Given the description of an element on the screen output the (x, y) to click on. 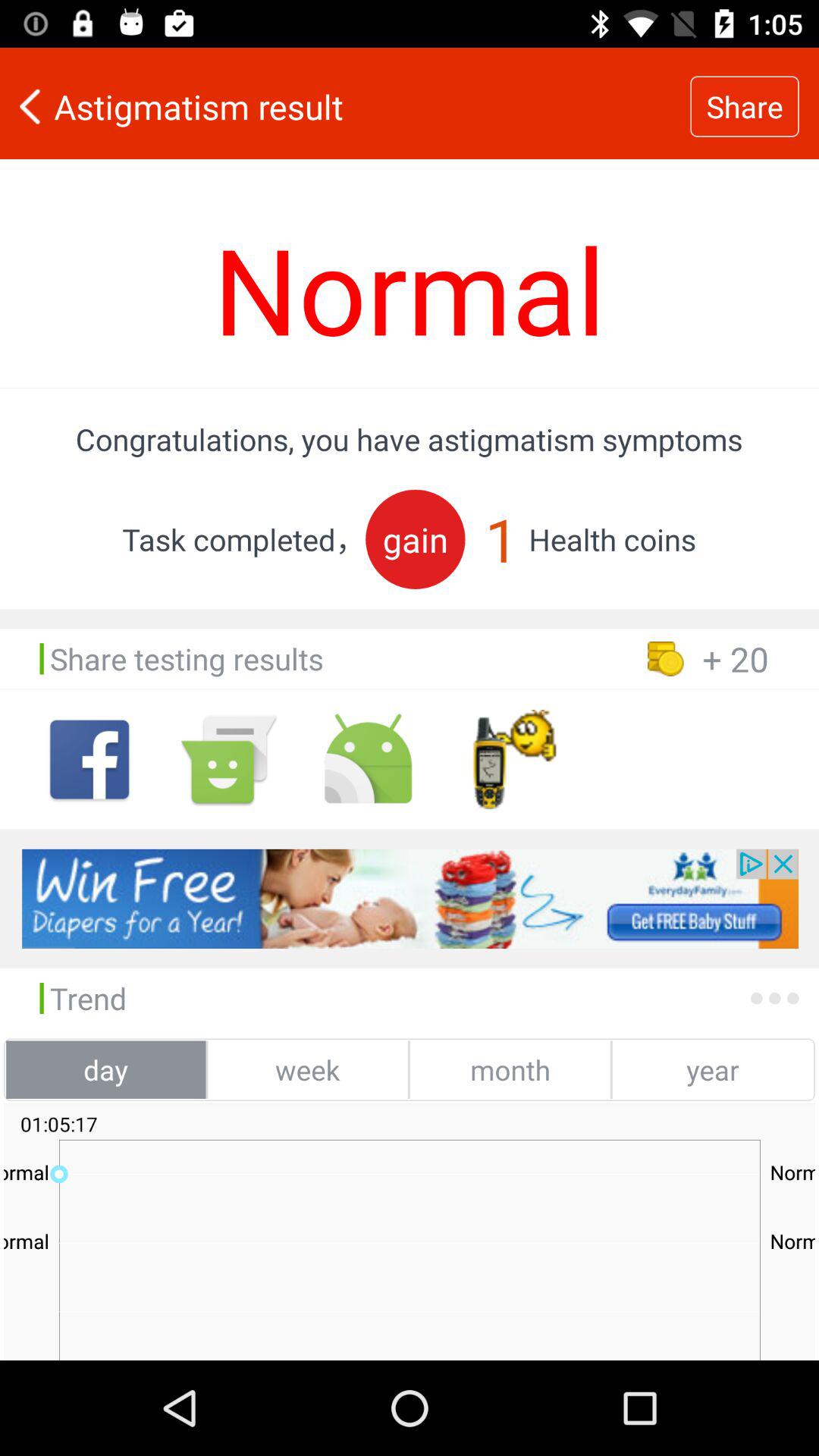
choose gain (415, 539)
